Given the description of an element on the screen output the (x, y) to click on. 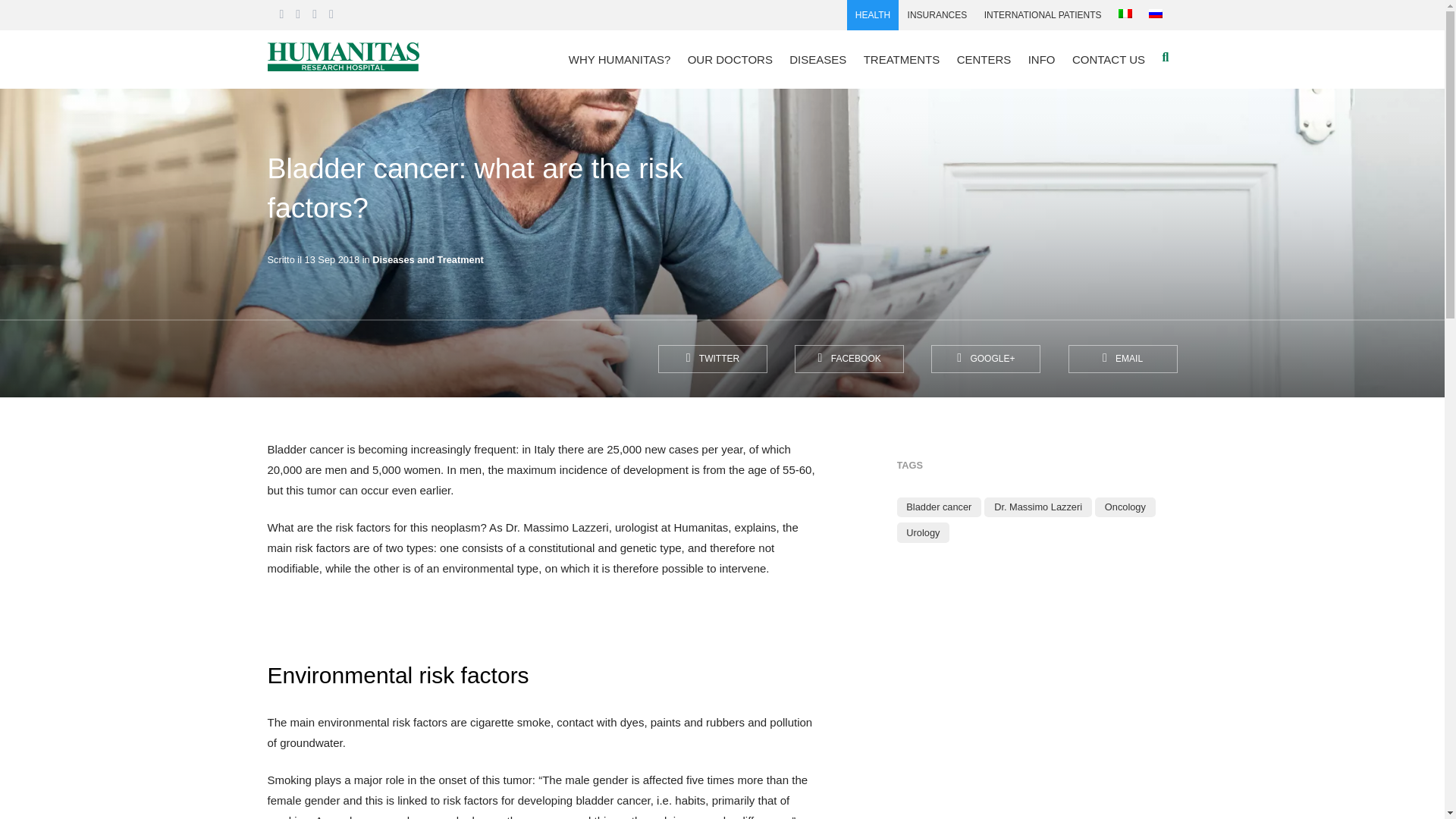
Diseases and Treatment (427, 259)
EMAIL (1121, 358)
CENTERS (983, 59)
TREATMENTS (902, 59)
Russian (1154, 13)
Italian (1125, 13)
Oncology (1125, 506)
INSURANCES (936, 15)
INTERNATIONAL PATIENTS (1042, 15)
FACEBOOK (849, 358)
TWITTER (712, 358)
Send an E-Mail (1121, 358)
Dr. Massimo Lazzeri (1037, 506)
HEALTH (873, 15)
CONTACT US (1109, 59)
